Given the description of an element on the screen output the (x, y) to click on. 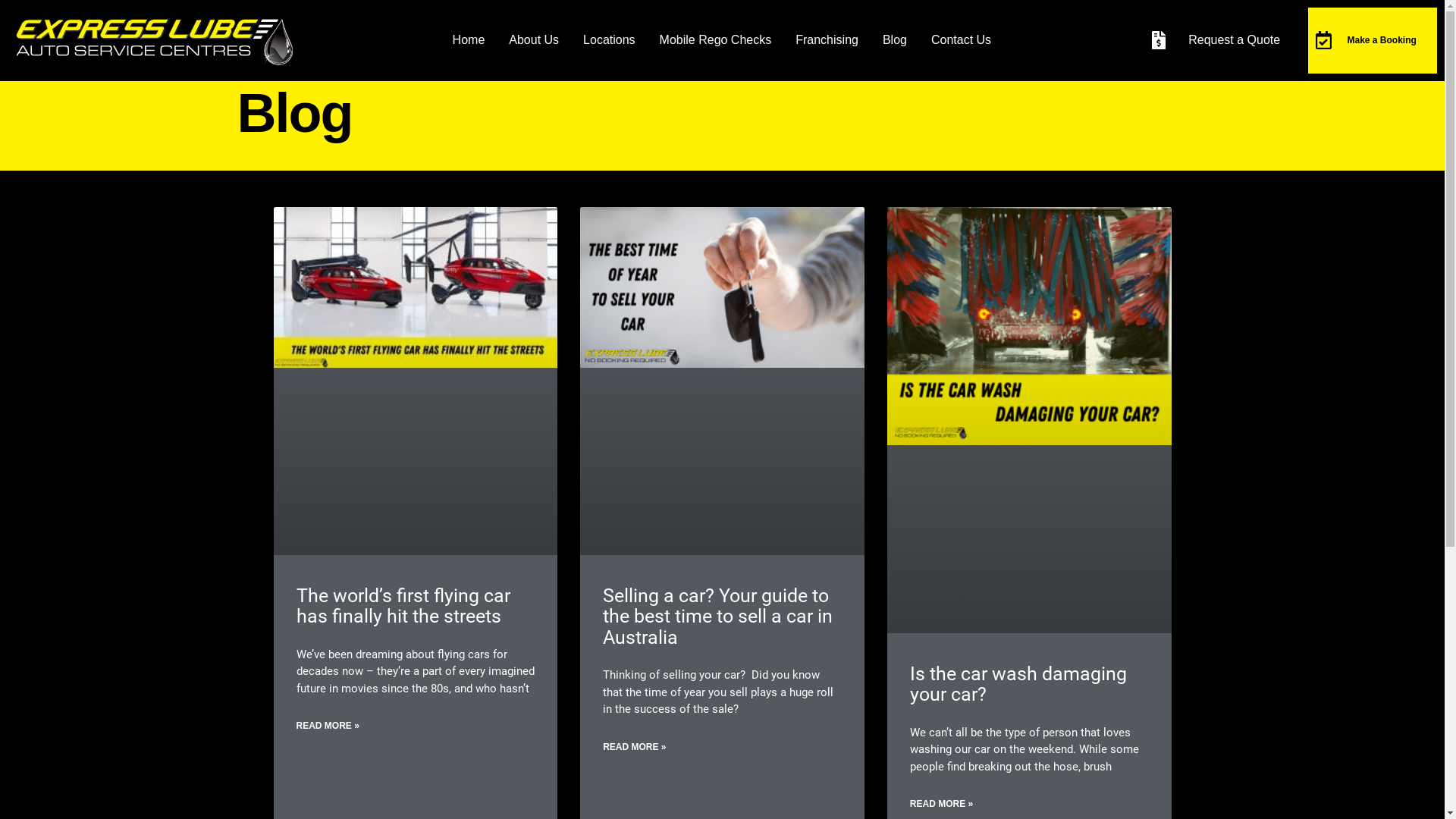
Mobile Rego Checks Element type: text (715, 39)
Contact Us Element type: text (961, 39)
Request a Quote Element type: text (1234, 39)
About Us Element type: text (533, 39)
Blog Element type: text (894, 39)
Make a Booking Element type: text (1380, 39)
Locations Element type: text (609, 39)
Is the car wash damaging your car? Element type: text (1018, 684)
Franchising Element type: text (826, 39)
Home Element type: text (468, 39)
